Given the description of an element on the screen output the (x, y) to click on. 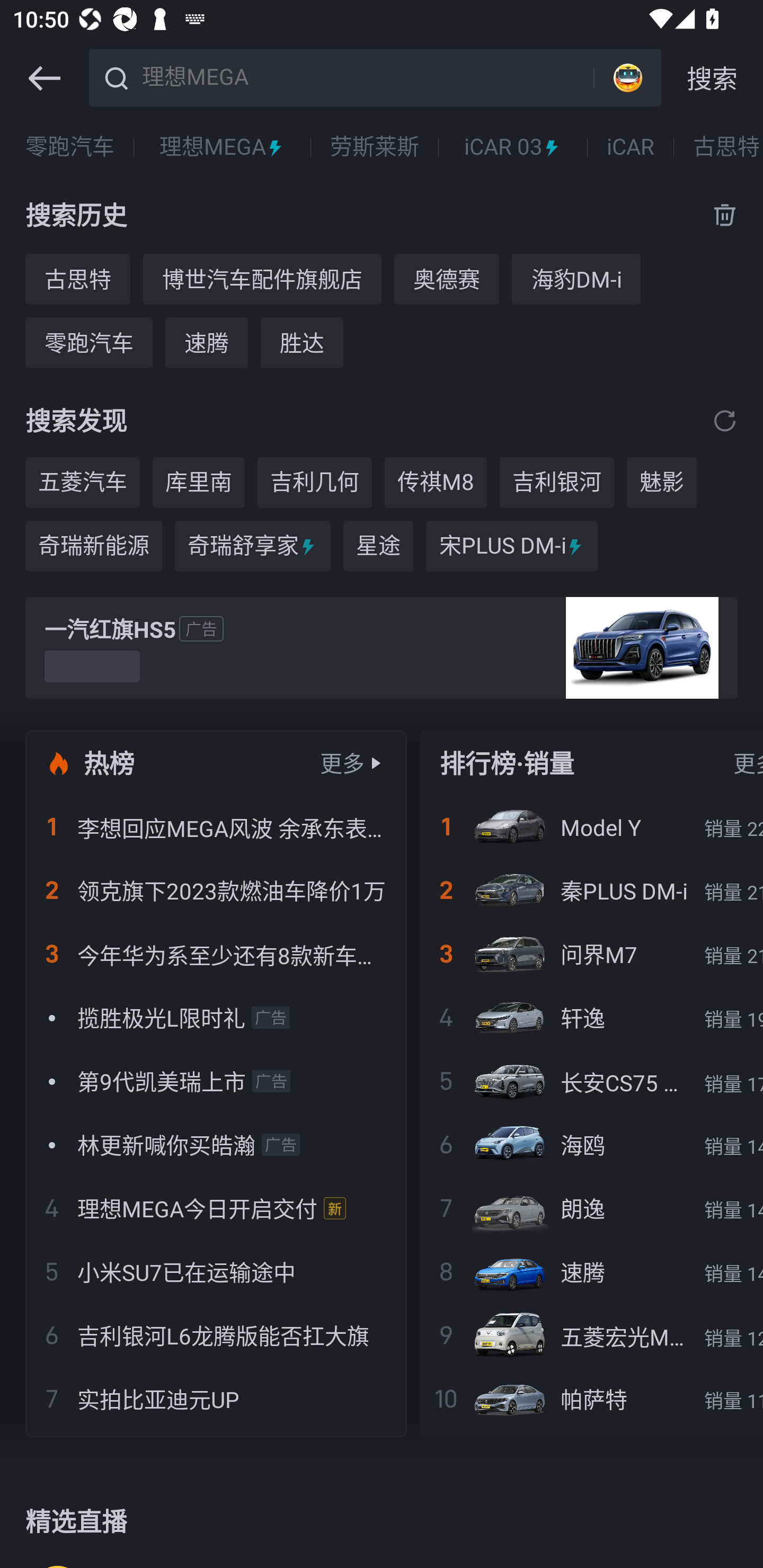
 理想MEGA (364, 76)
 (44, 78)
搜索 (711, 78)
零跑汽车 (69, 147)
理想MEGA (222, 147)
劳斯莱斯 (374, 147)
iCAR 03 (512, 147)
iCAR (630, 147)
古思特 (725, 147)
古思特 (77, 278)
博世汽车配件旗舰店 (261, 278)
奥德赛 (446, 278)
海豹DM-i (576, 278)
零跑汽车 (88, 342)
速腾 (206, 342)
胜达 (302, 342)
 (724, 419)
五菱汽车 (82, 482)
库里南 (198, 482)
吉利几何 (314, 482)
传祺M8 (435, 482)
吉利银河 (556, 482)
魅影 (661, 482)
奇瑞新能源 (93, 546)
奇瑞舒享家 (252, 546)
星途 (378, 546)
宋PLUS DM-i (511, 546)
一汽红旗HS5 广告 预约试驾 (381, 648)
更多 (341, 762)
李想回应MEGA风波 余承东表态 (215, 826)
Model Y 销量 22537 (591, 826)
领克旗下2023款燃油车降价1万 (215, 890)
秦PLUS DM-i 销量 21268 (591, 890)
今年华为系至少还有8款新车要来 (215, 953)
问界M7 销量 21083 (591, 953)
揽胜极光L限时礼 (215, 1017)
轩逸 销量 19878 (591, 1017)
第9代凯美瑞上市 (215, 1080)
长安CS75 PLUS 销量 17303 (591, 1080)
林更新喊你买皓瀚 (215, 1144)
海鸥 销量 14403 (591, 1144)
理想MEGA今日开启交付 (215, 1208)
朗逸 销量 14400 (591, 1208)
小米SU7已在运输途中 (215, 1271)
速腾 销量 14209 (591, 1271)
吉利银河L6龙腾版能否扛大旗 (215, 1335)
五菱宏光MINIEV 销量 12649 (591, 1335)
实拍比亚迪元UP (215, 1398)
帕萨特 销量 11641 (591, 1398)
